Given the description of an element on the screen output the (x, y) to click on. 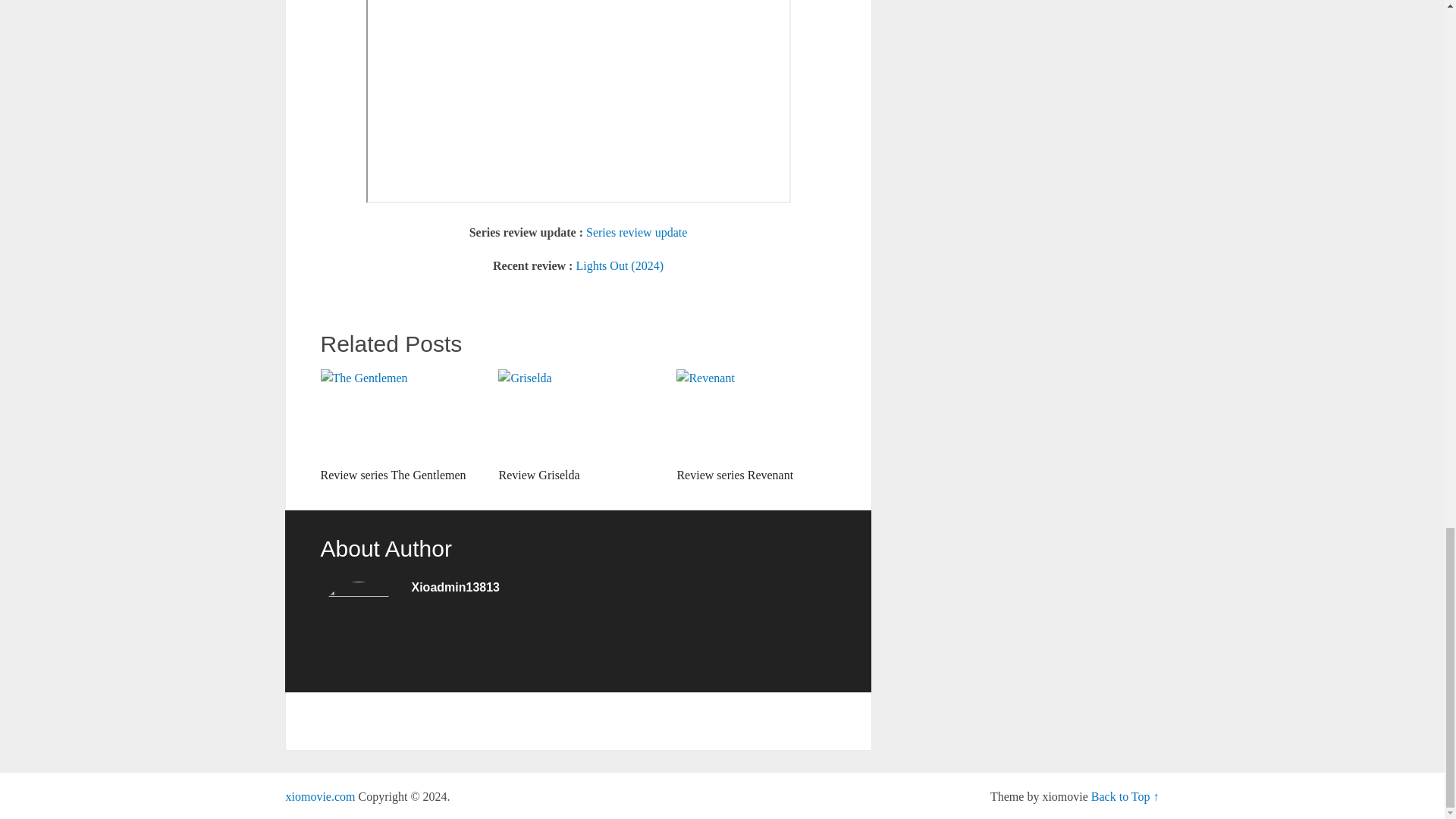
Series review update (636, 232)
Review Griselda (577, 426)
Review series The Gentlemen (399, 426)
My WordPress Blog (320, 796)
Review series The Gentlemen (399, 426)
Review series Revenant (756, 426)
Review series Revenant (756, 426)
Review Griselda (577, 426)
xiomovie.com (320, 796)
